Given the description of an element on the screen output the (x, y) to click on. 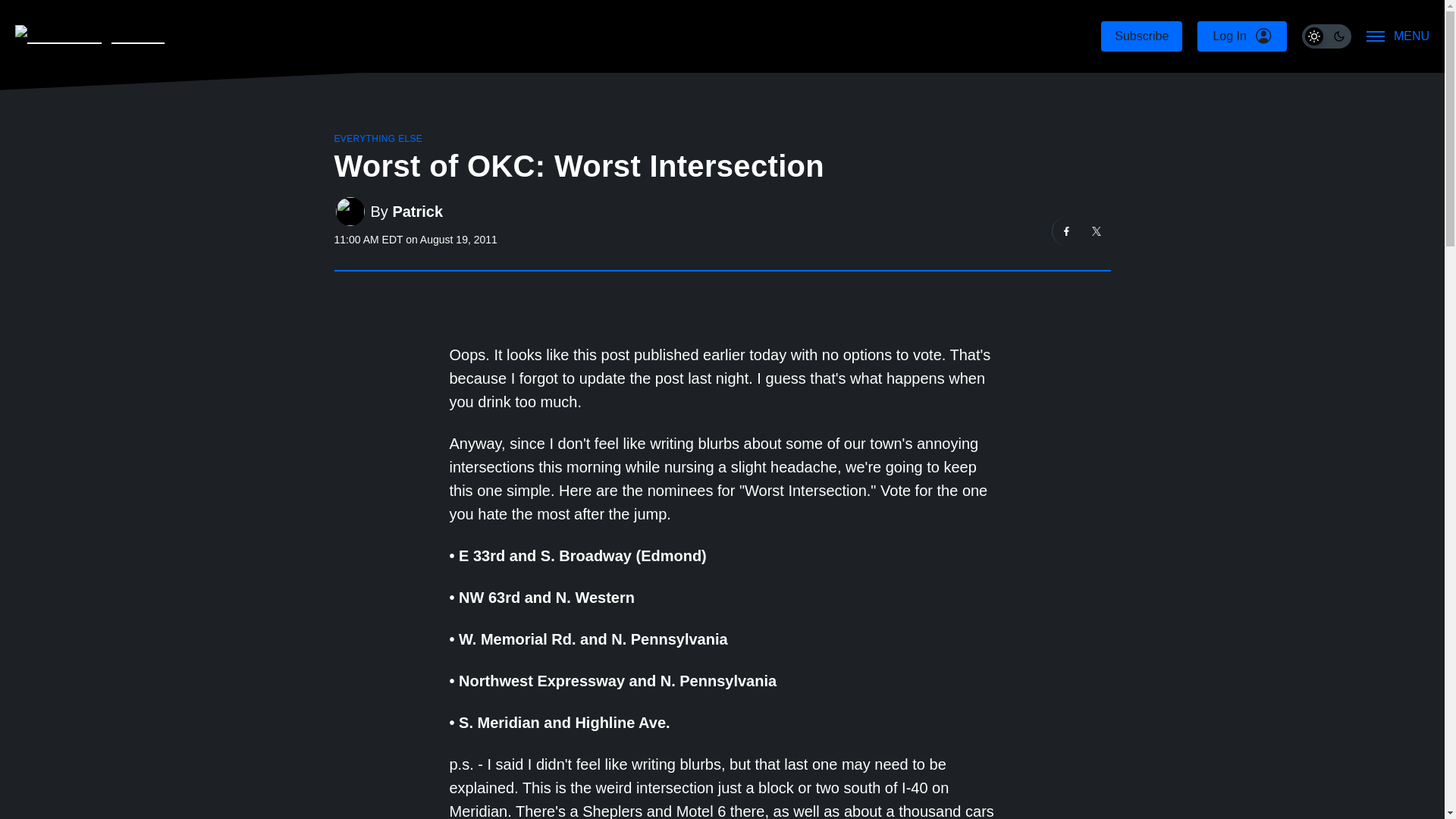
Share on Facebook (1066, 231)
Log In (1240, 36)
EVERYTHING ELSE (377, 138)
MENU (1398, 36)
Patrick (416, 211)
Subscribe (1141, 36)
